Given the description of an element on the screen output the (x, y) to click on. 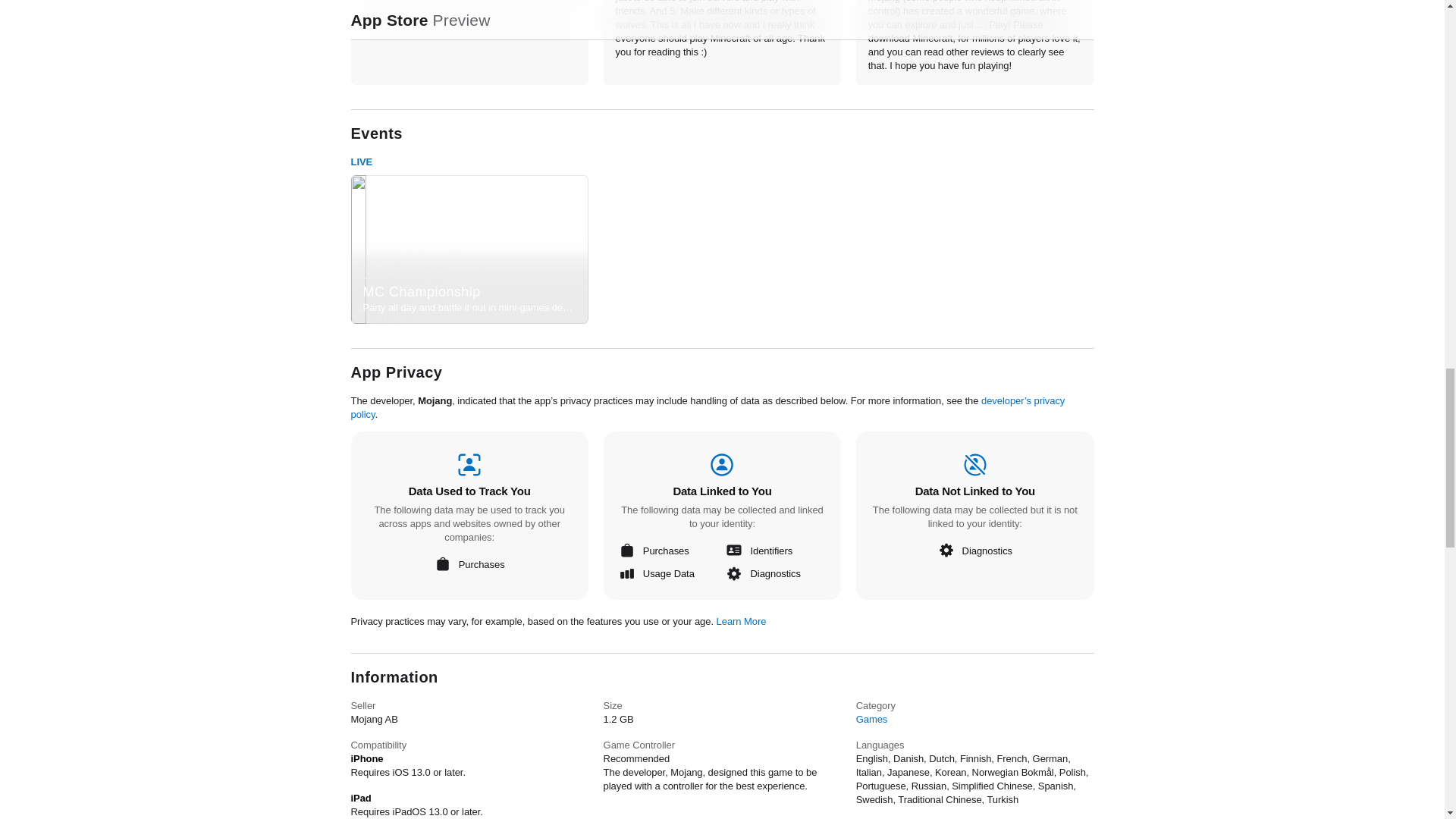
Learn More (741, 621)
Games (872, 718)
